Given the description of an element on the screen output the (x, y) to click on. 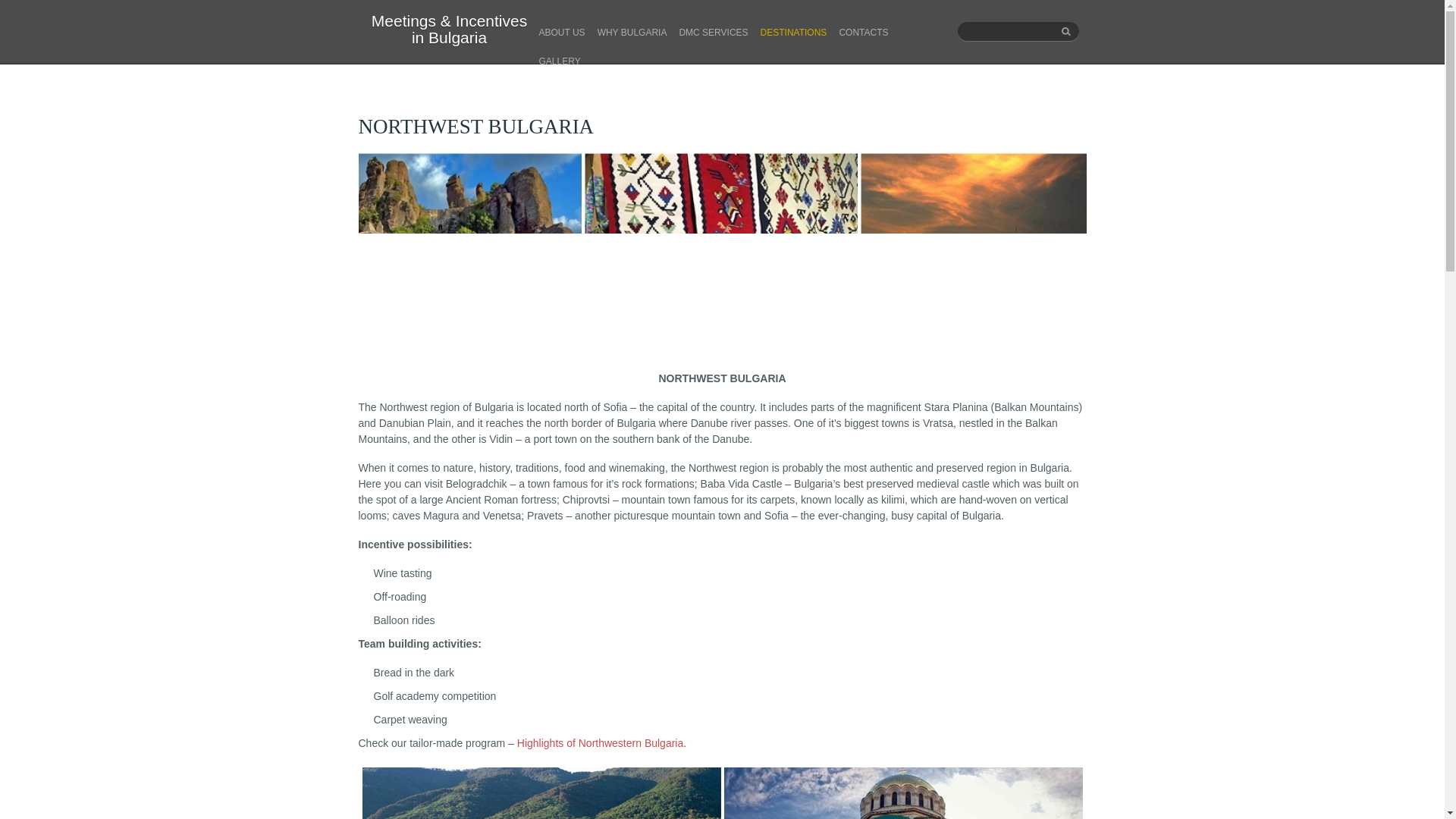
DESTINATIONS (793, 32)
ABOUT US (561, 32)
WHY BULGARIA (631, 32)
GALLERY (558, 61)
CONTACTS (863, 32)
DMC SERVICES (713, 32)
Highlights of Northwestern Bulgaria (599, 743)
incentive-bulgaria.com (448, 29)
